Given the description of an element on the screen output the (x, y) to click on. 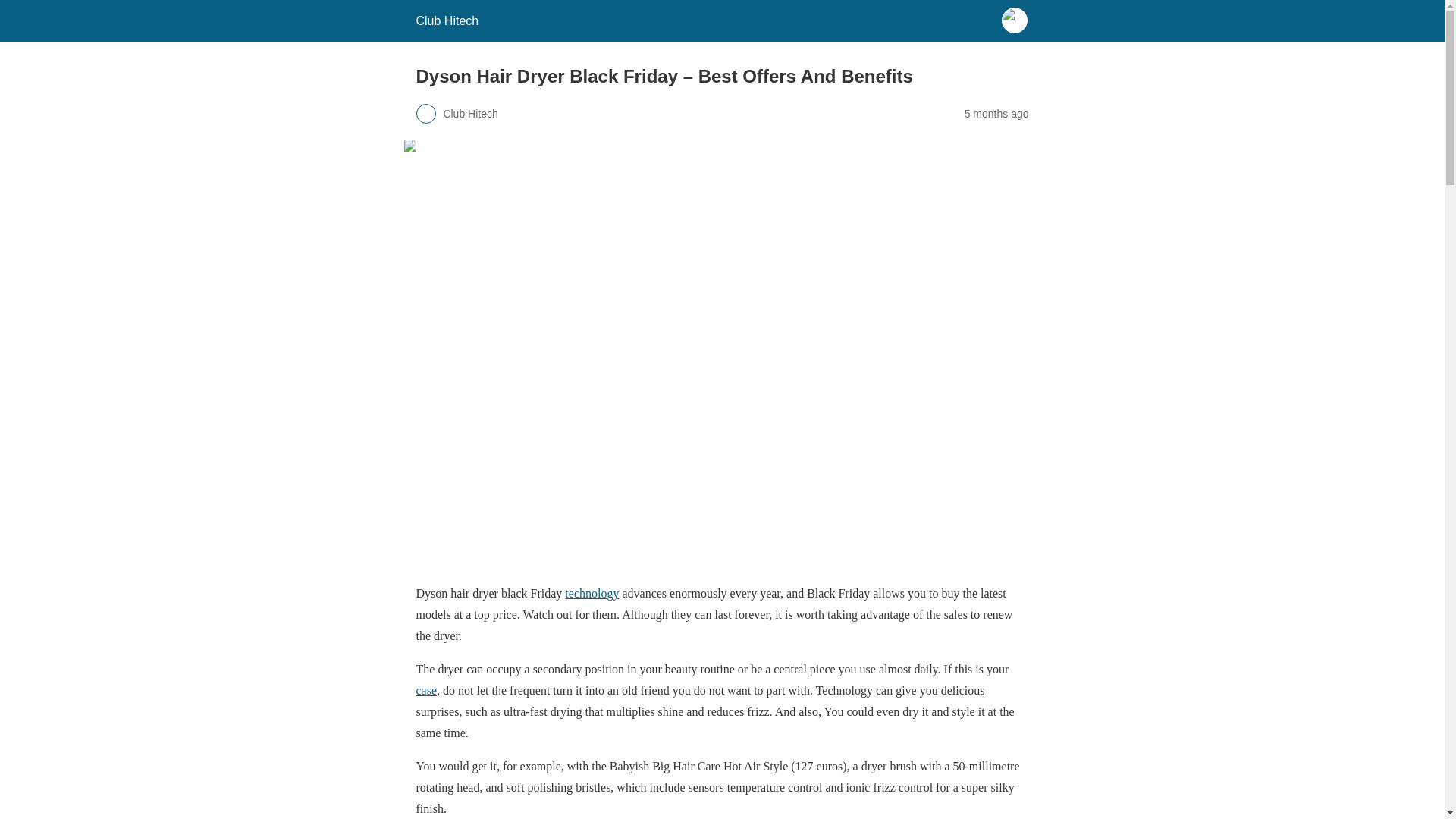
case (425, 689)
Club Hitech (446, 20)
technology (591, 593)
